Given the description of an element on the screen output the (x, y) to click on. 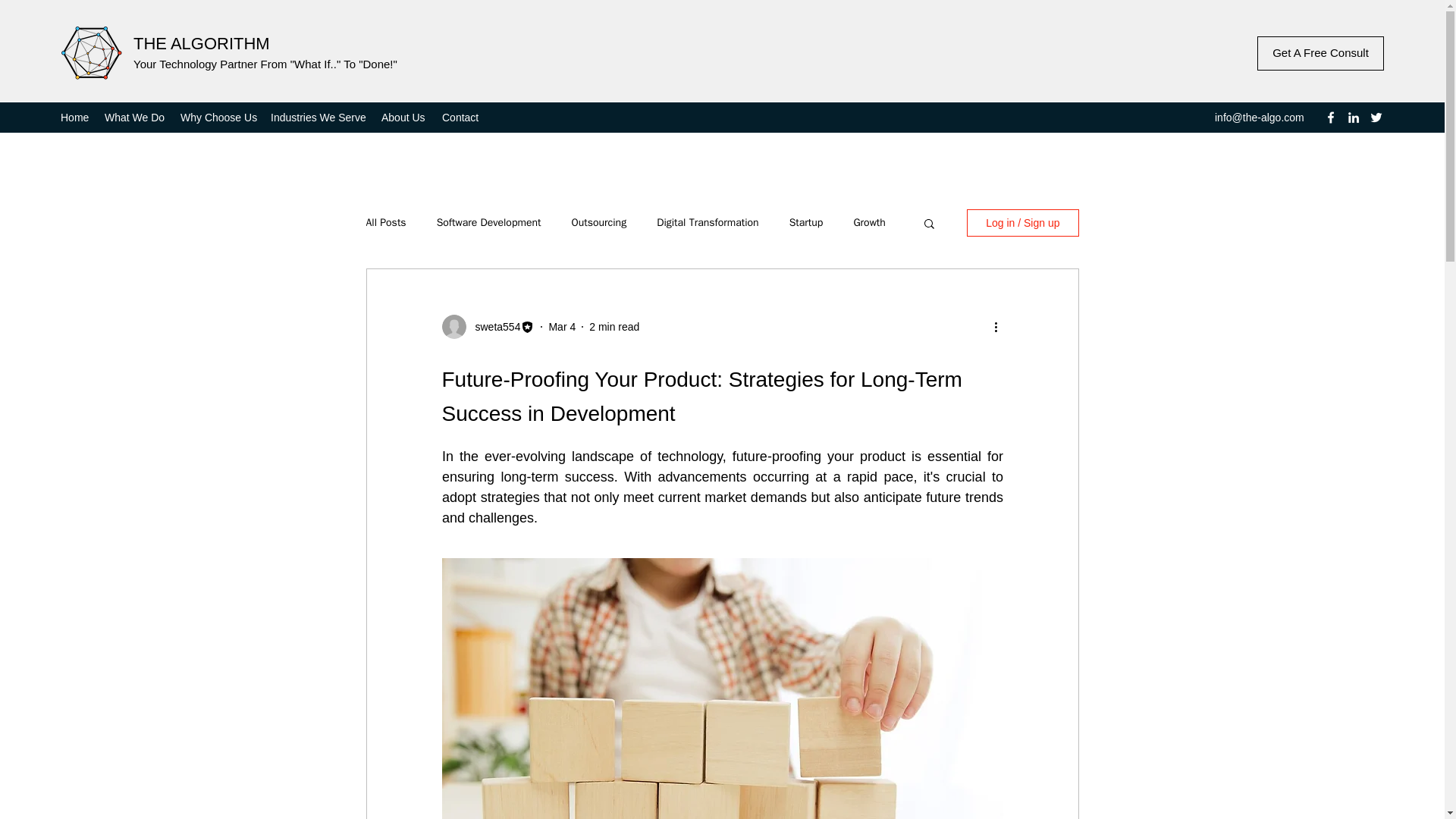
2 min read (614, 326)
Contact (460, 117)
Outsourcing (598, 223)
Get A Free Consult (1320, 53)
sweta554 (492, 326)
Home (74, 117)
Mar 4 (561, 326)
THE ALGORITHM (201, 43)
About Us (403, 117)
All Posts (385, 223)
